Given the description of an element on the screen output the (x, y) to click on. 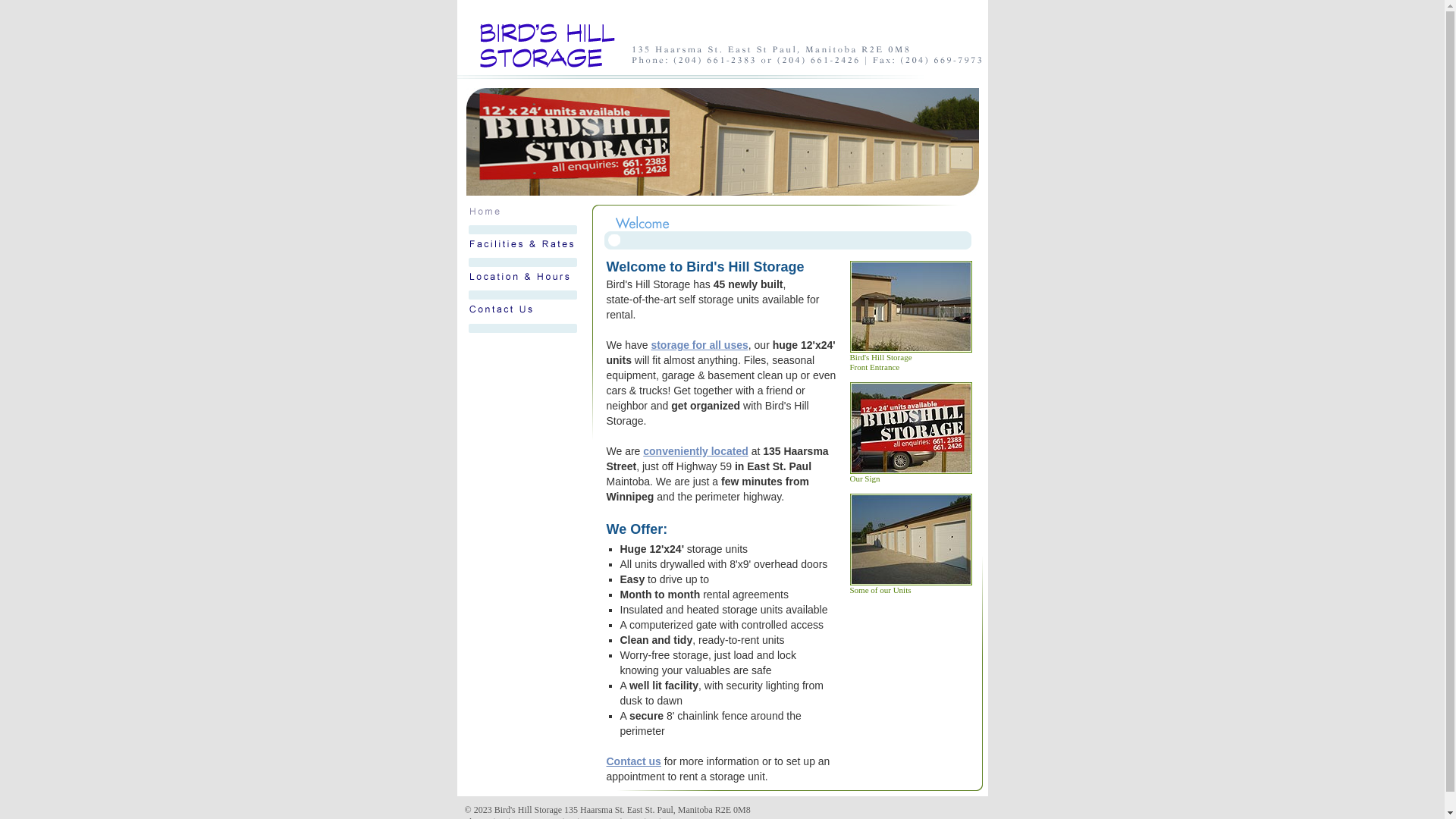
Contact us Element type: text (633, 761)
storage for all uses Element type: text (698, 344)
conveniently located Element type: text (695, 451)
